Given the description of an element on the screen output the (x, y) to click on. 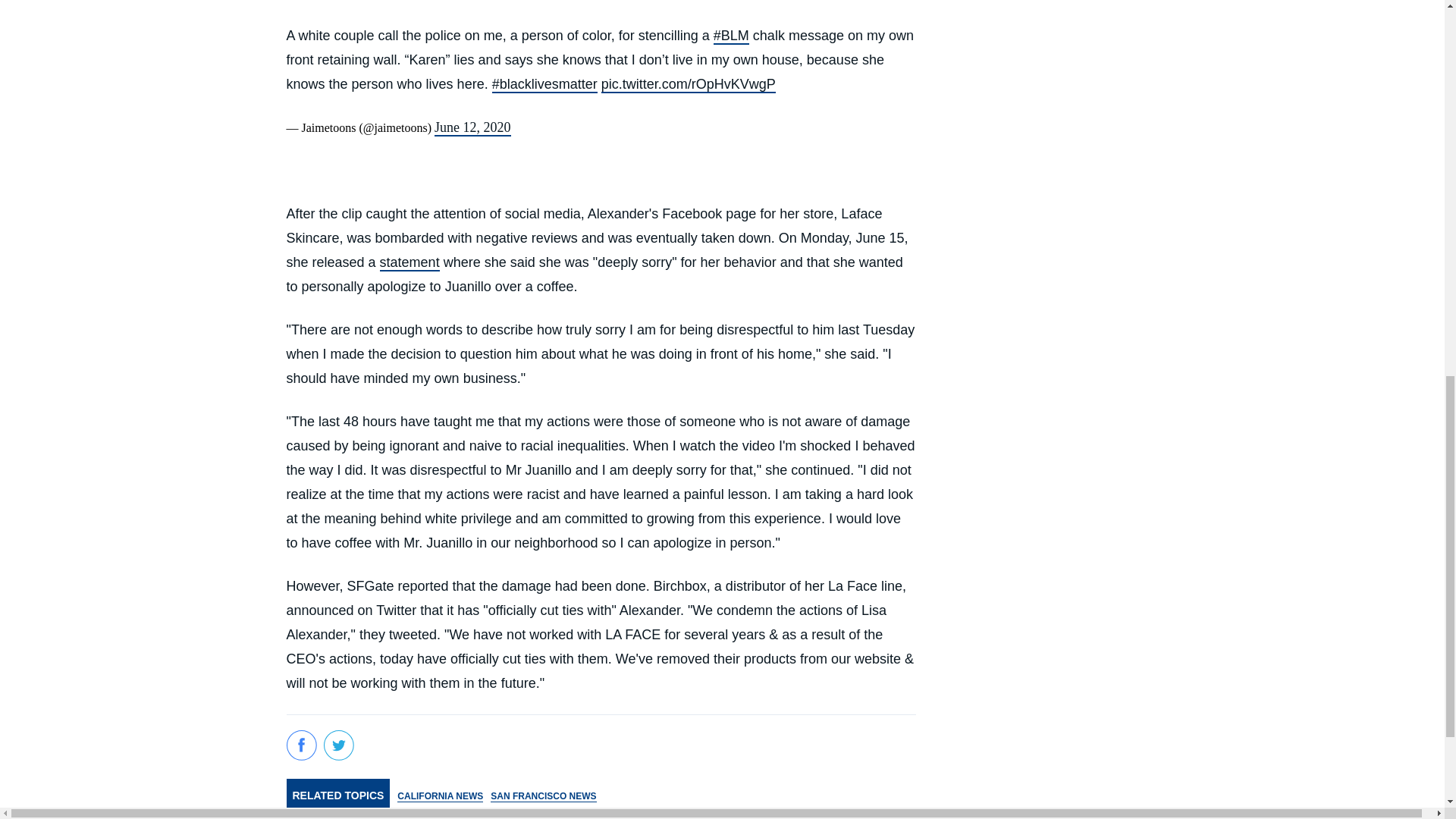
statement (409, 262)
CALIFORNIA NEWS (440, 794)
June 12, 2020 (472, 127)
SAN FRANCISCO NEWS (542, 794)
